Given the description of an element on the screen output the (x, y) to click on. 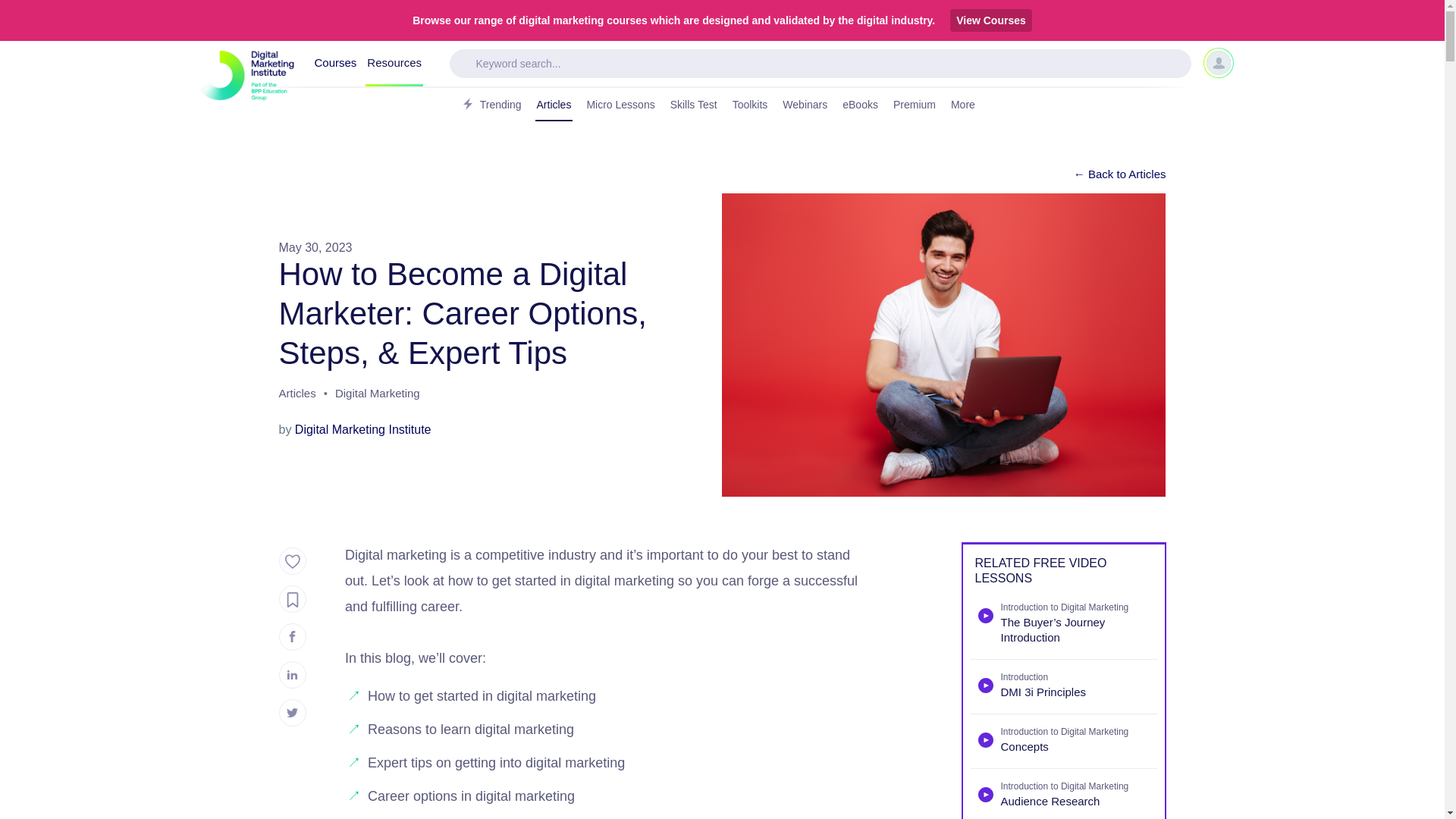
Resources (394, 62)
Premium (914, 104)
More (968, 104)
Trending (489, 104)
Articles (554, 104)
Skills Test (693, 104)
Micro Lessons (620, 104)
View Courses (991, 20)
eBooks (860, 104)
Click to share this post on Twitter (292, 712)
Toolkits (750, 104)
Webinars (804, 104)
Articles (297, 395)
Digital Marketing (377, 395)
Courses (335, 62)
